Given the description of an element on the screen output the (x, y) to click on. 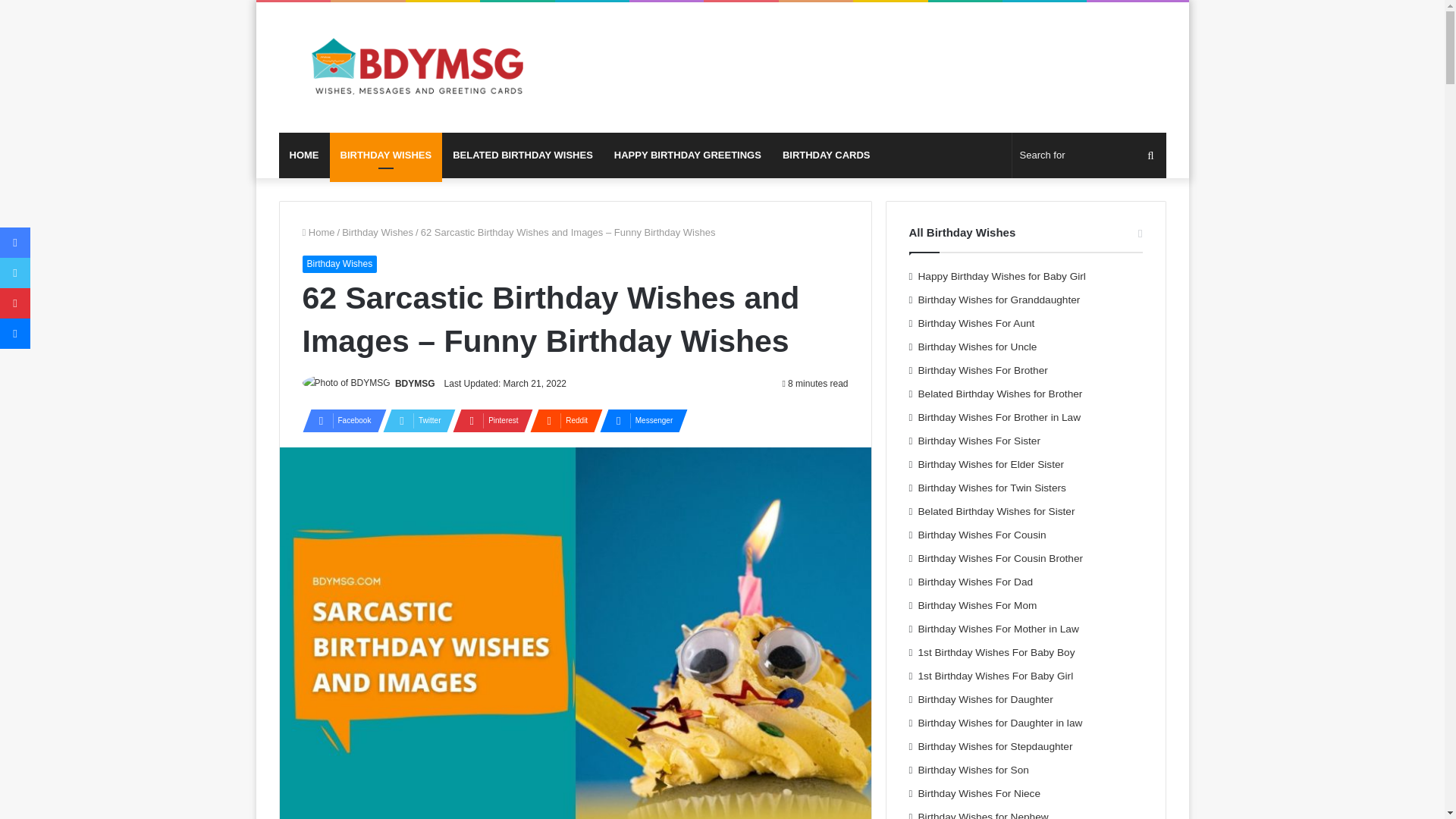
BIRTHDAY CARDS (825, 155)
Messenger (638, 420)
Facebook (339, 420)
Twitter (414, 420)
BIRTHDAY WISHES (385, 155)
HAPPY BIRTHDAY GREETINGS (687, 155)
BDYMSG (419, 67)
Pinterest (488, 420)
BDYMSG (414, 383)
Pinterest (488, 420)
Search for (1088, 155)
HOME (304, 155)
BELATED BIRTHDAY WISHES (523, 155)
Home (317, 232)
Facebook (339, 420)
